Given the description of an element on the screen output the (x, y) to click on. 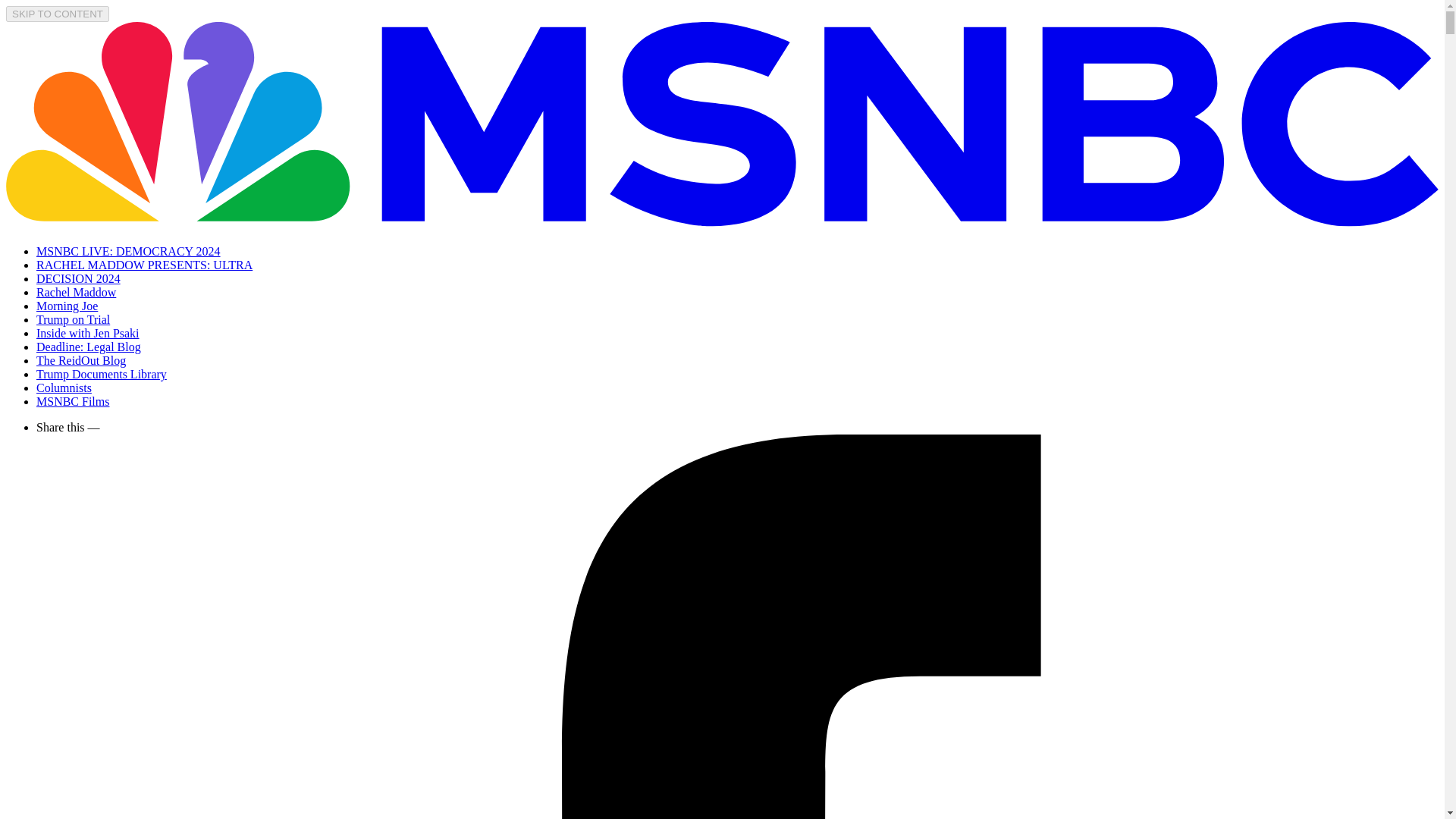
MSNBC Films (72, 400)
Rachel Maddow (76, 291)
Trump Documents Library (101, 373)
The ReidOut Blog (80, 359)
Trump on Trial (73, 318)
Deadline: Legal Blog (88, 346)
Morning Joe (66, 305)
RACHEL MADDOW PRESENTS: ULTRA (143, 264)
Columnists (63, 387)
MSNBC LIVE: DEMOCRACY 2024 (128, 250)
DECISION 2024 (78, 278)
Inside with Jen Psaki (87, 332)
SKIP TO CONTENT (57, 13)
